Given the description of an element on the screen output the (x, y) to click on. 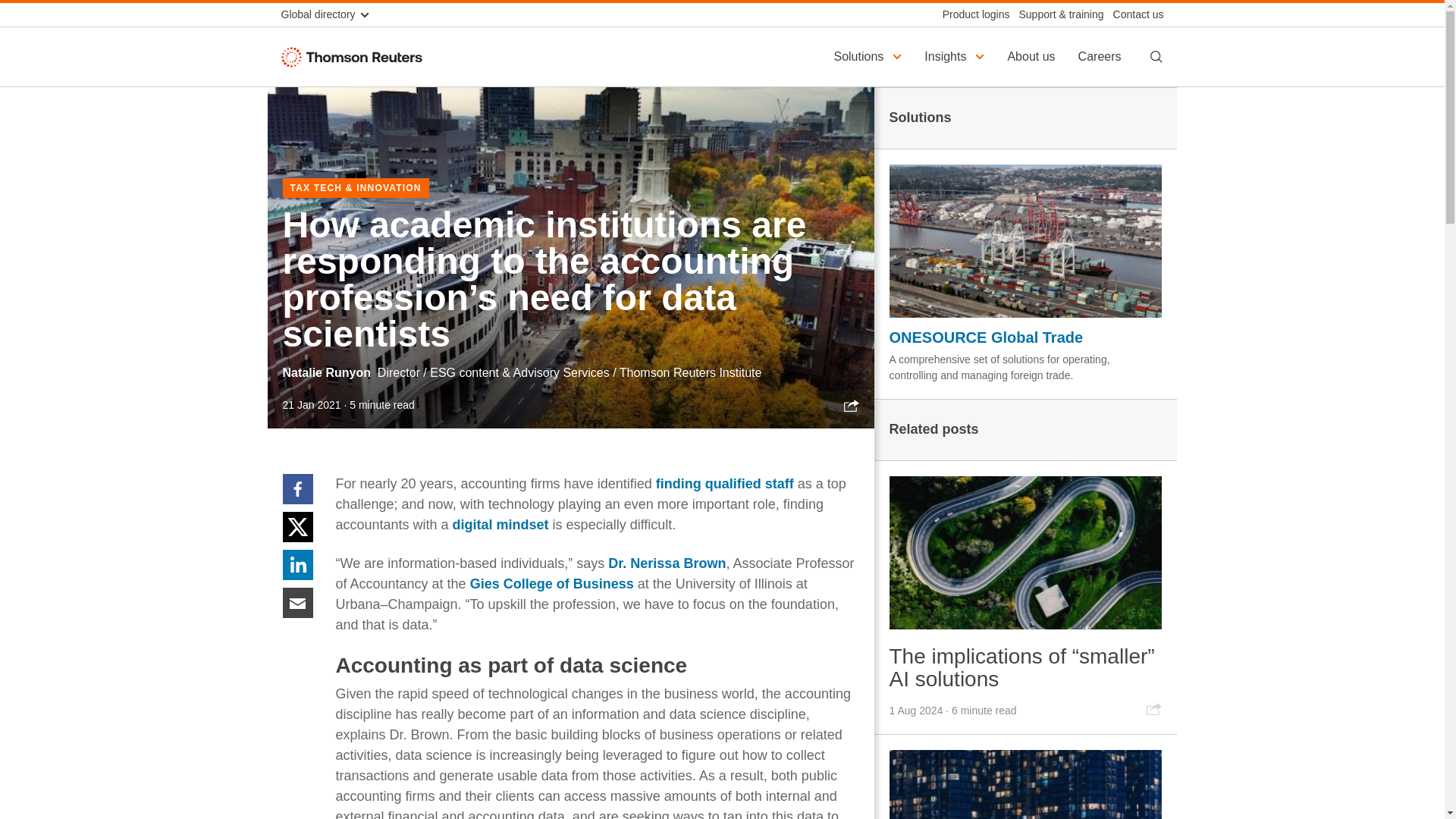
Solutions (869, 56)
Global directory (331, 14)
Thomson Reuters (355, 56)
Contact us (1133, 14)
Twitter (297, 525)
Natalie Runyon (325, 372)
Facebook (297, 487)
About us (1032, 56)
Product logins (971, 14)
Email (297, 601)
Linkedin (297, 563)
Careers (1101, 56)
Insights (956, 56)
Share (850, 405)
21 Jan 2021 (311, 404)
